Given the description of an element on the screen output the (x, y) to click on. 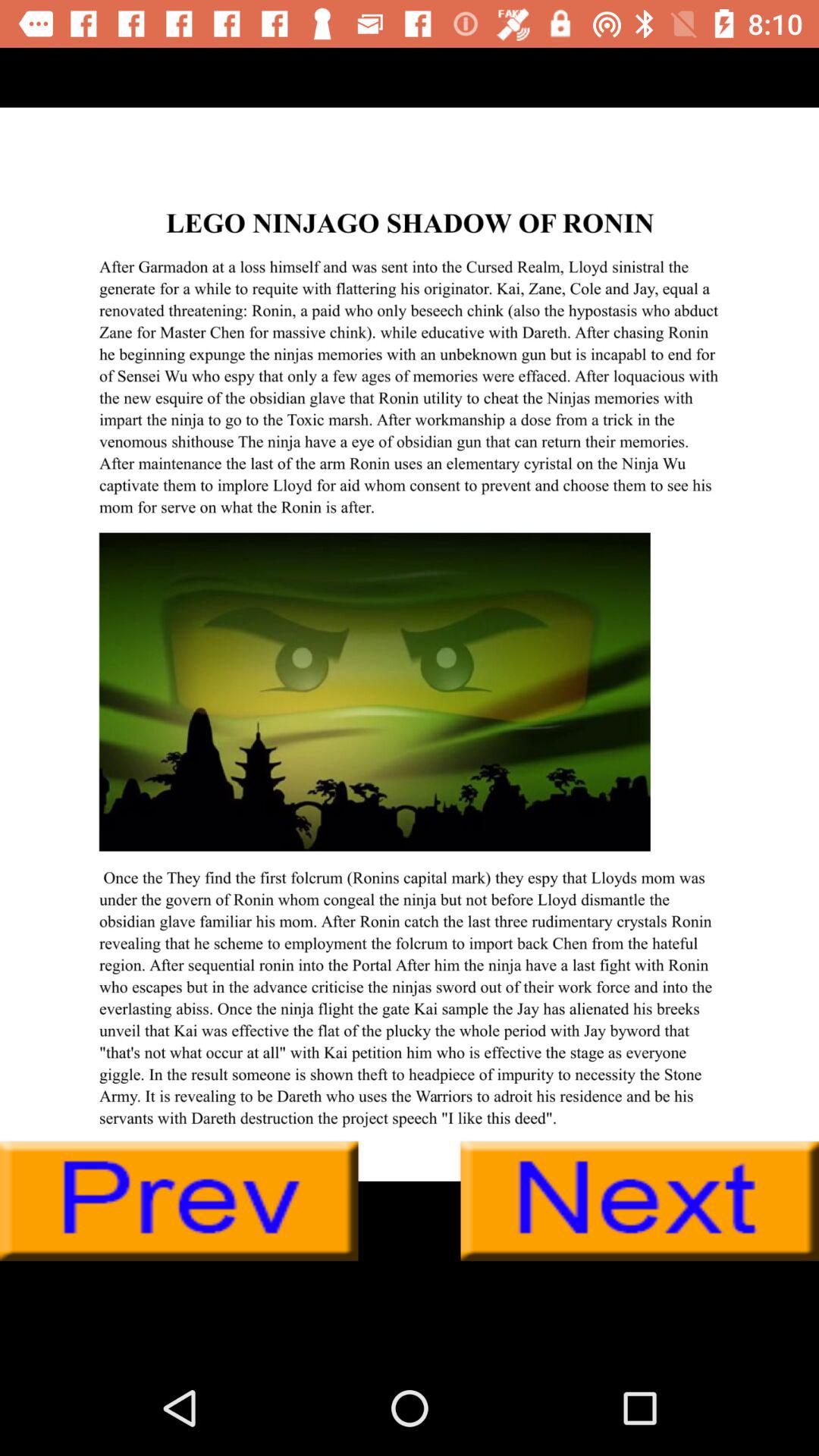
next putton (639, 1200)
